Given the description of an element on the screen output the (x, y) to click on. 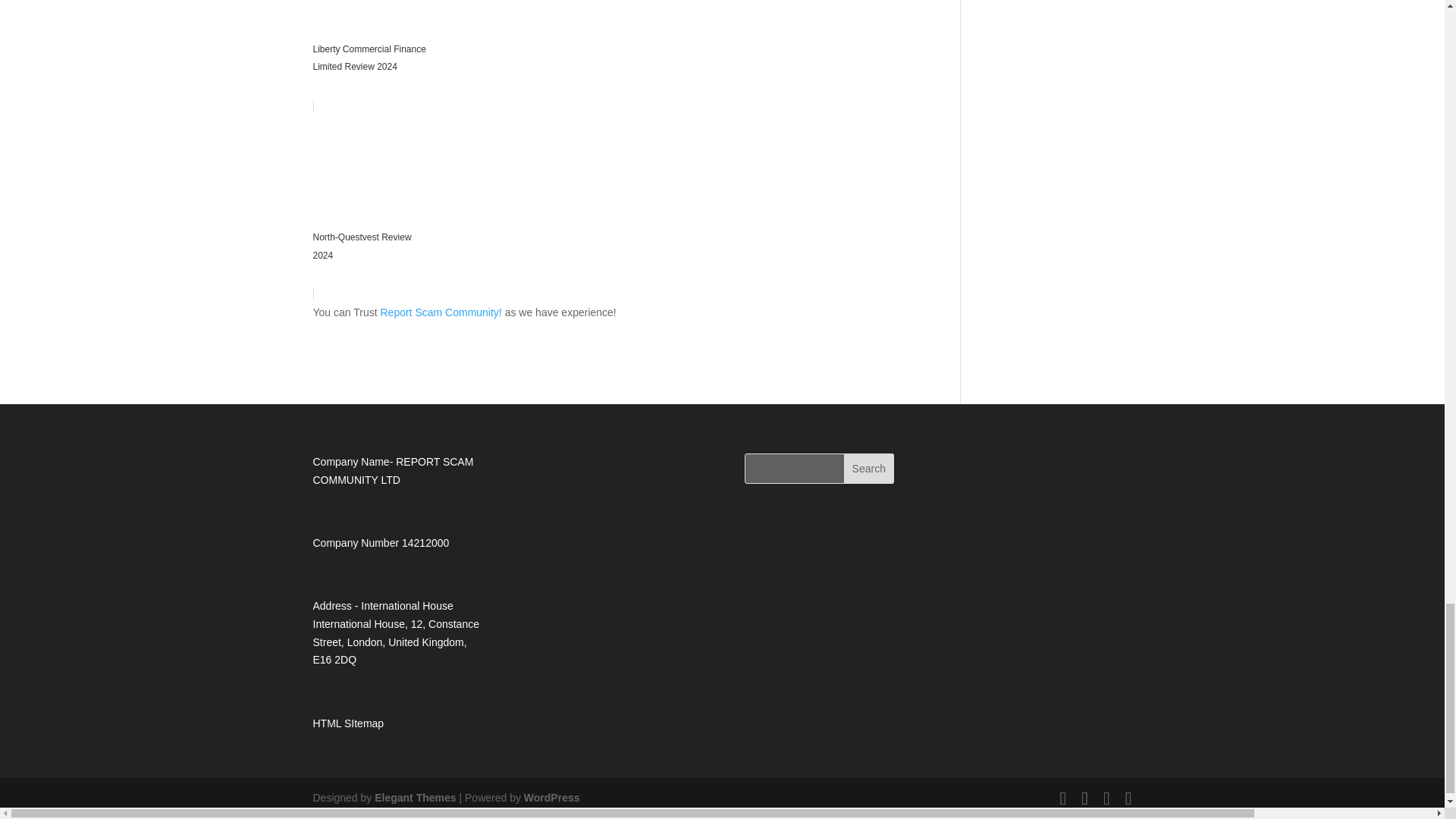
Premium WordPress Themes (414, 797)
